Given the description of an element on the screen output the (x, y) to click on. 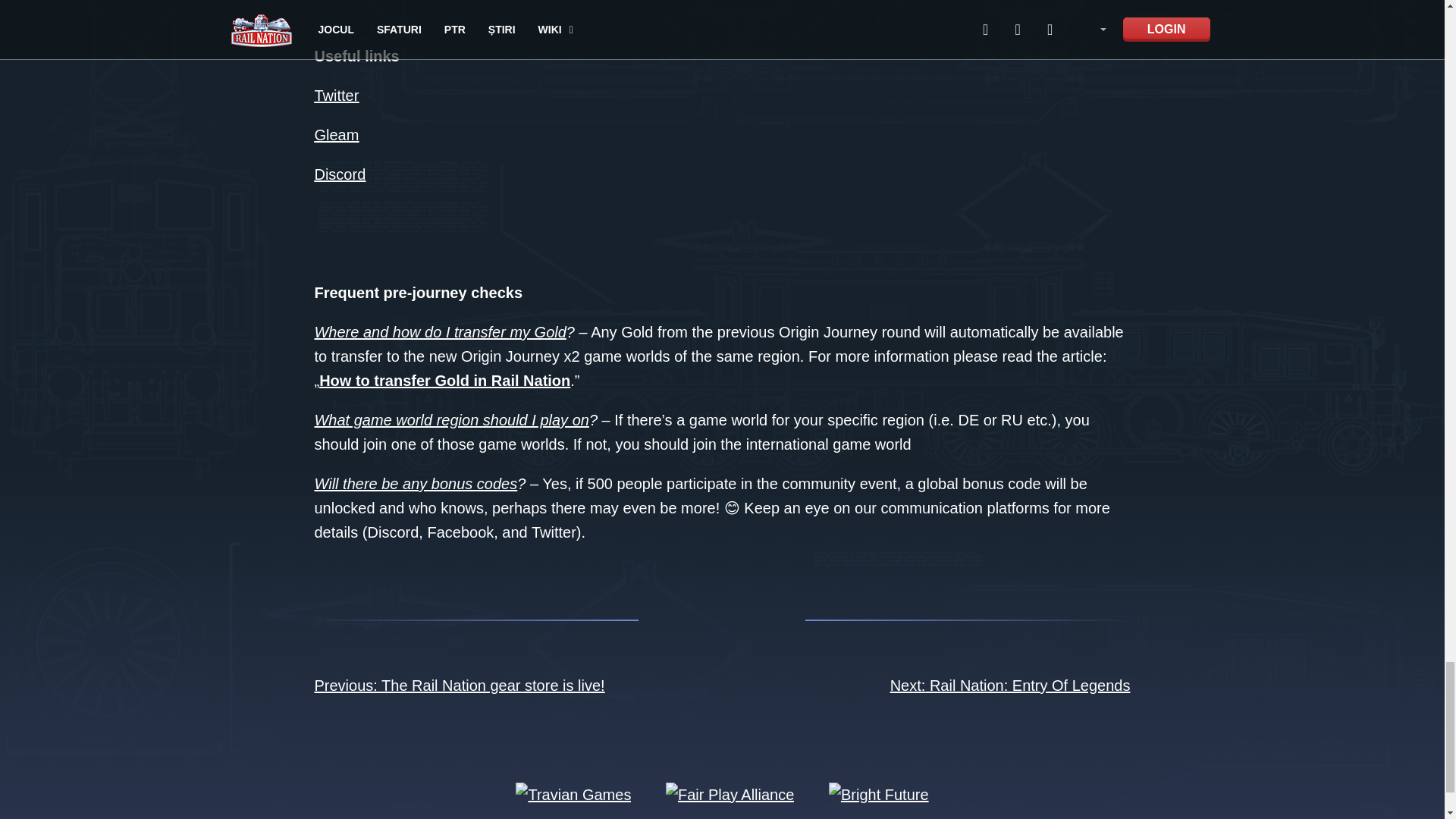
Fair Play Alliance (729, 792)
